Given the description of an element on the screen output the (x, y) to click on. 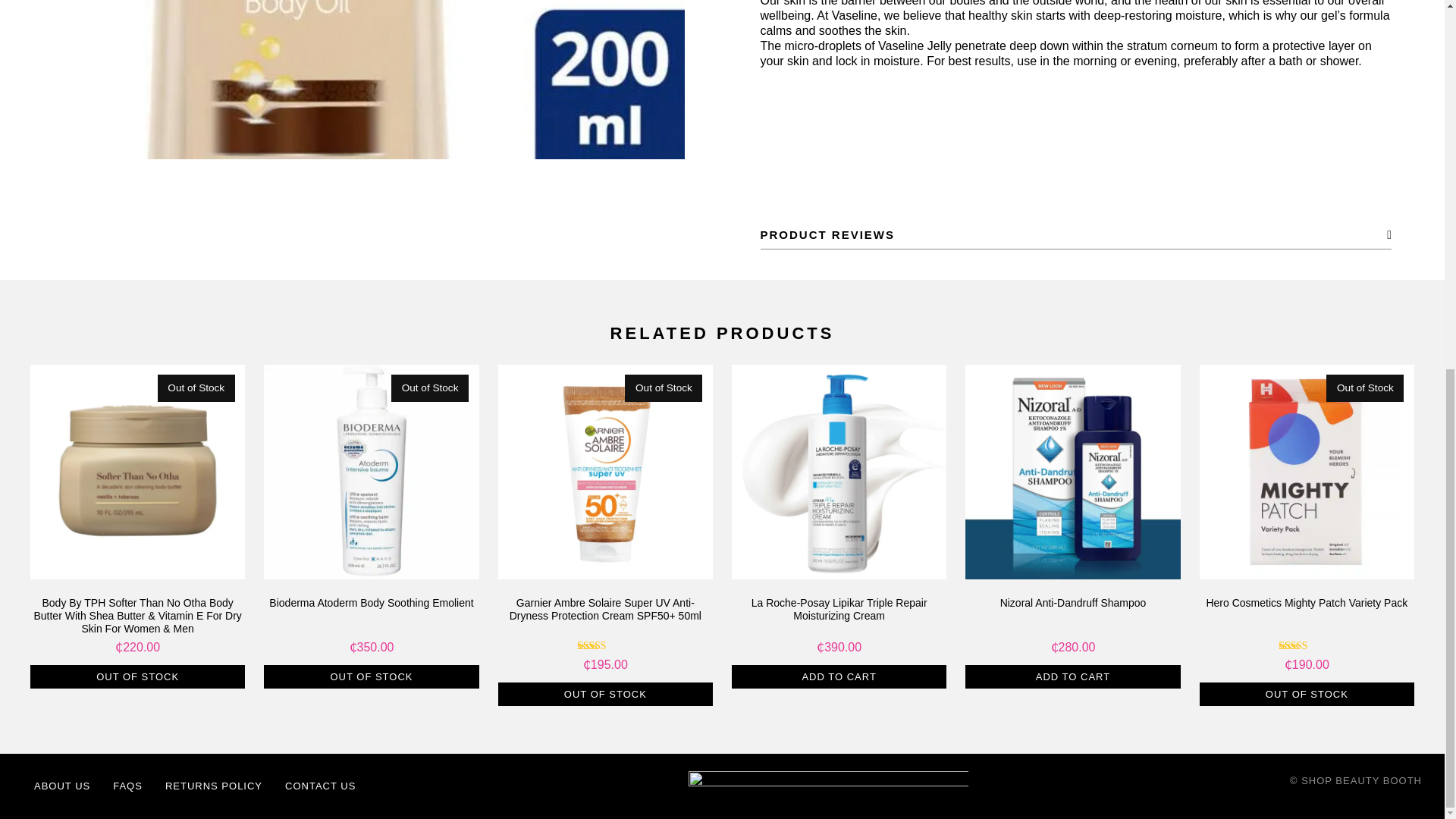
Minimum qty is 1 (137, 677)
Minimum qty is 1 (839, 677)
Minimum qty is 1 (1072, 677)
Minimum qty is 1 (1306, 694)
Minimum qty is 1 (371, 677)
Minimum qty is 1 (605, 694)
